Given the description of an element on the screen output the (x, y) to click on. 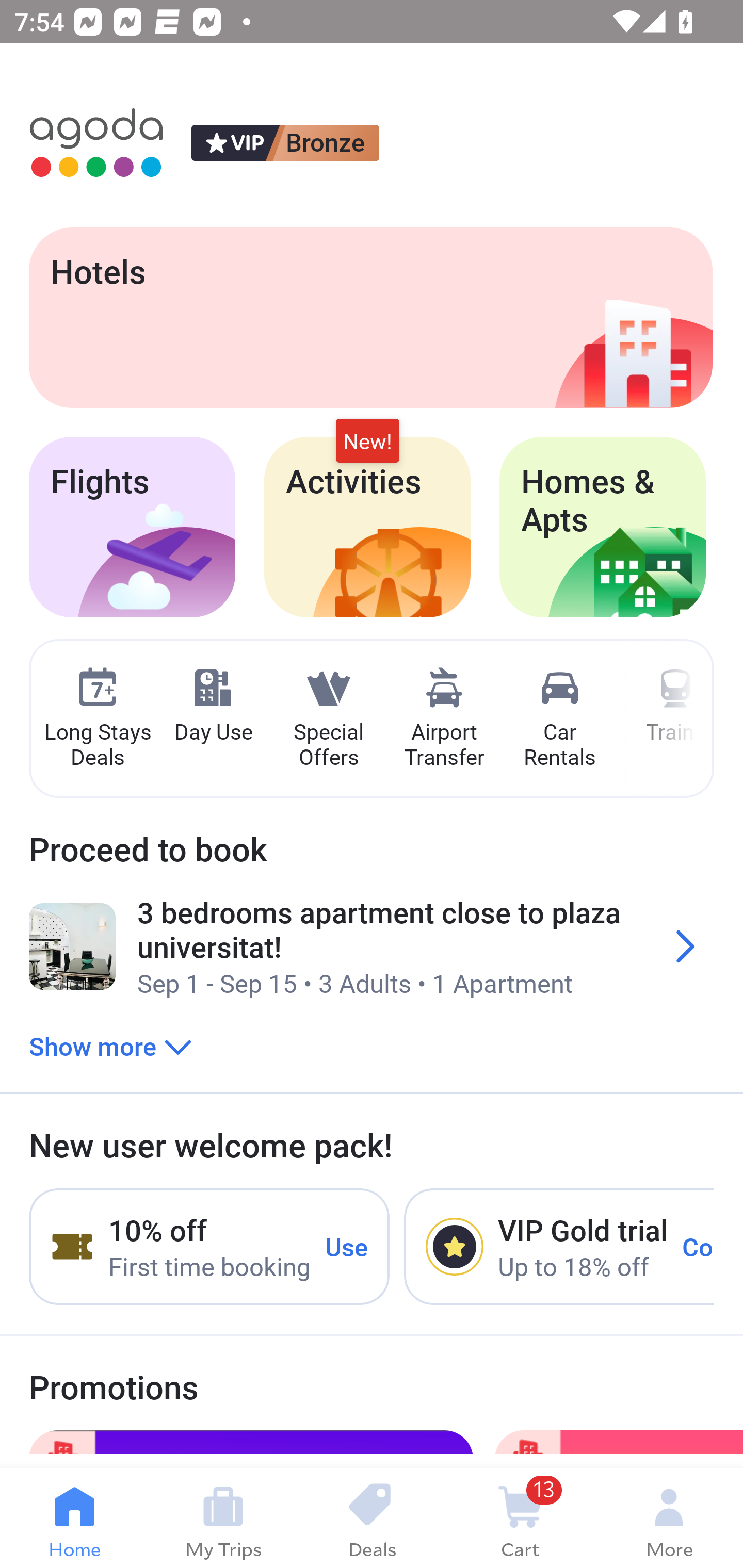
Hotels (370, 317)
New! (367, 441)
Flights (131, 527)
Activities (367, 527)
Homes & Apts (602, 527)
Day Use (213, 706)
Long Stays Deals (97, 718)
Special Offers (328, 718)
Airport Transfer (444, 718)
Car Rentals (559, 718)
Show more (110, 1045)
Use (346, 1246)
Home (74, 1518)
My Trips (222, 1518)
Deals (371, 1518)
13 Cart (519, 1518)
More (668, 1518)
